Given the description of an element on the screen output the (x, y) to click on. 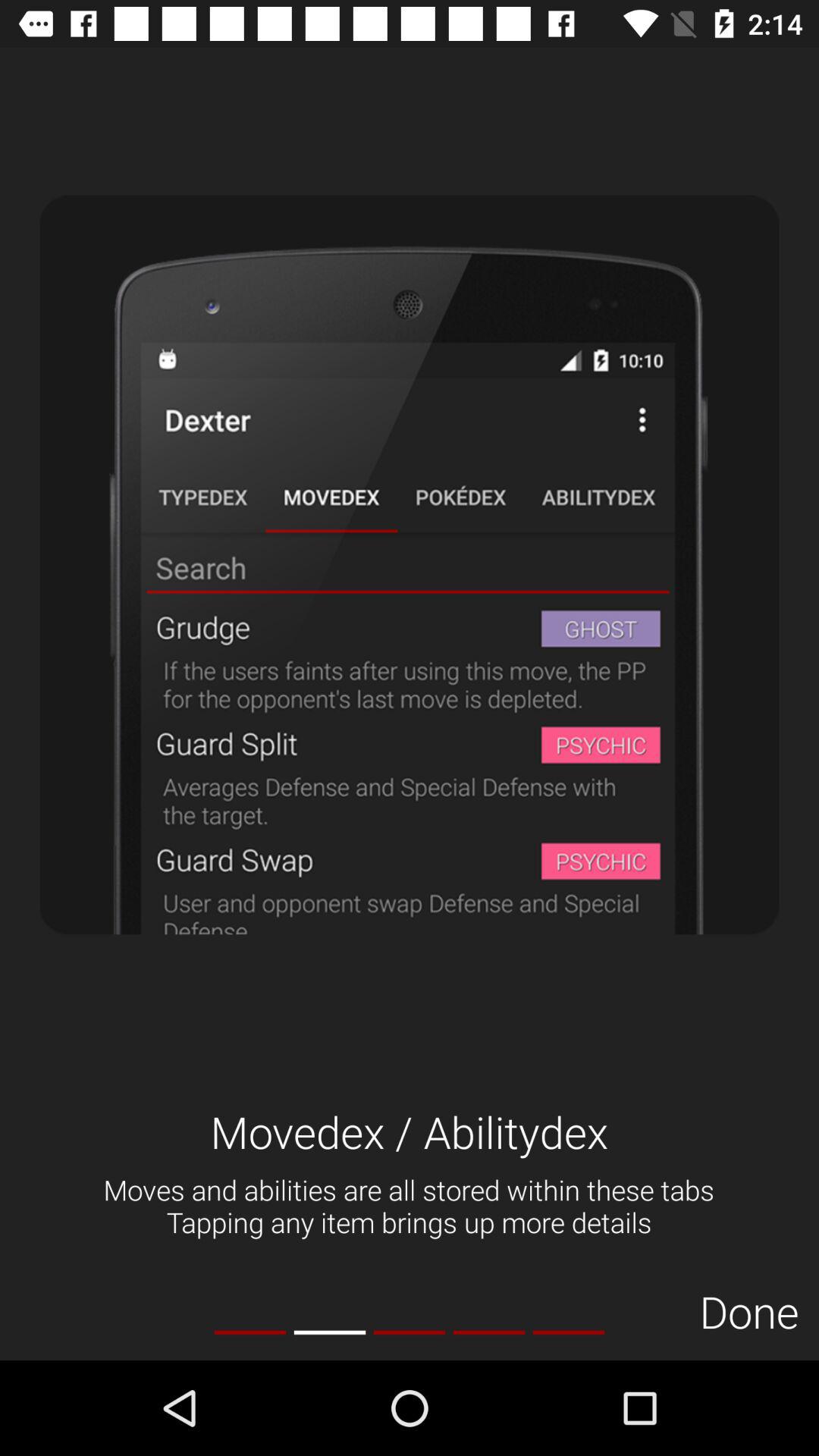
open the item below moves and abilities app (749, 1311)
